Given the description of an element on the screen output the (x, y) to click on. 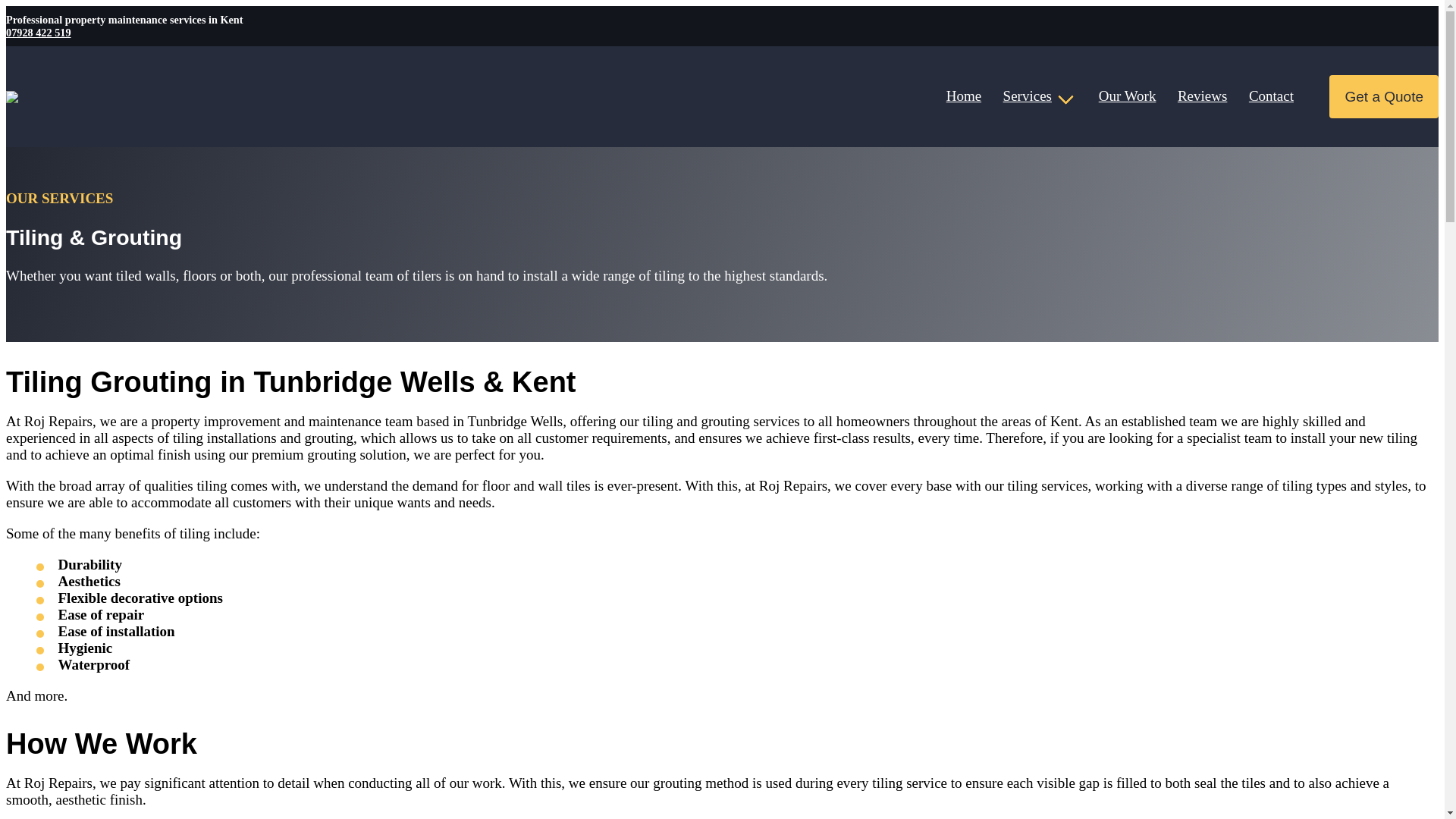
Get a Quote (1383, 96)
Services (1039, 96)
07928 422 519 (38, 31)
